Given the description of an element on the screen output the (x, y) to click on. 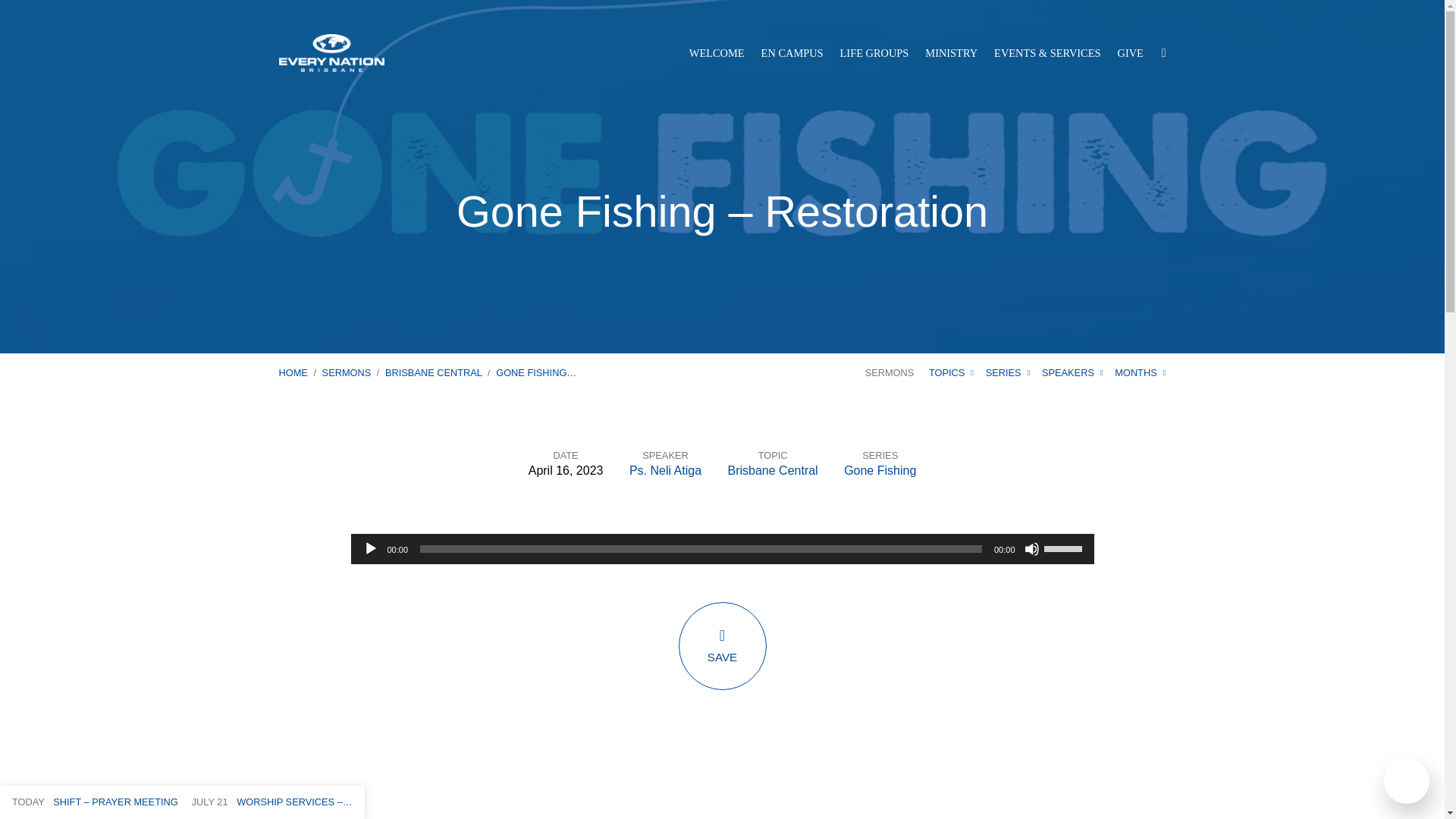
SERMONS (889, 372)
MINISTRY (950, 52)
BRISBANE CENTRAL (433, 372)
LIFE GROUPS (874, 52)
TOPICS (951, 372)
EN CAMPUS (792, 52)
GIVE (1129, 52)
SERMONS (346, 372)
HOME (293, 372)
SERIES (1007, 372)
WELCOME (716, 52)
Mute (1031, 548)
Restoration - Revelations 21:1-9, 22-27 (722, 783)
Play (369, 548)
